Given the description of an element on the screen output the (x, y) to click on. 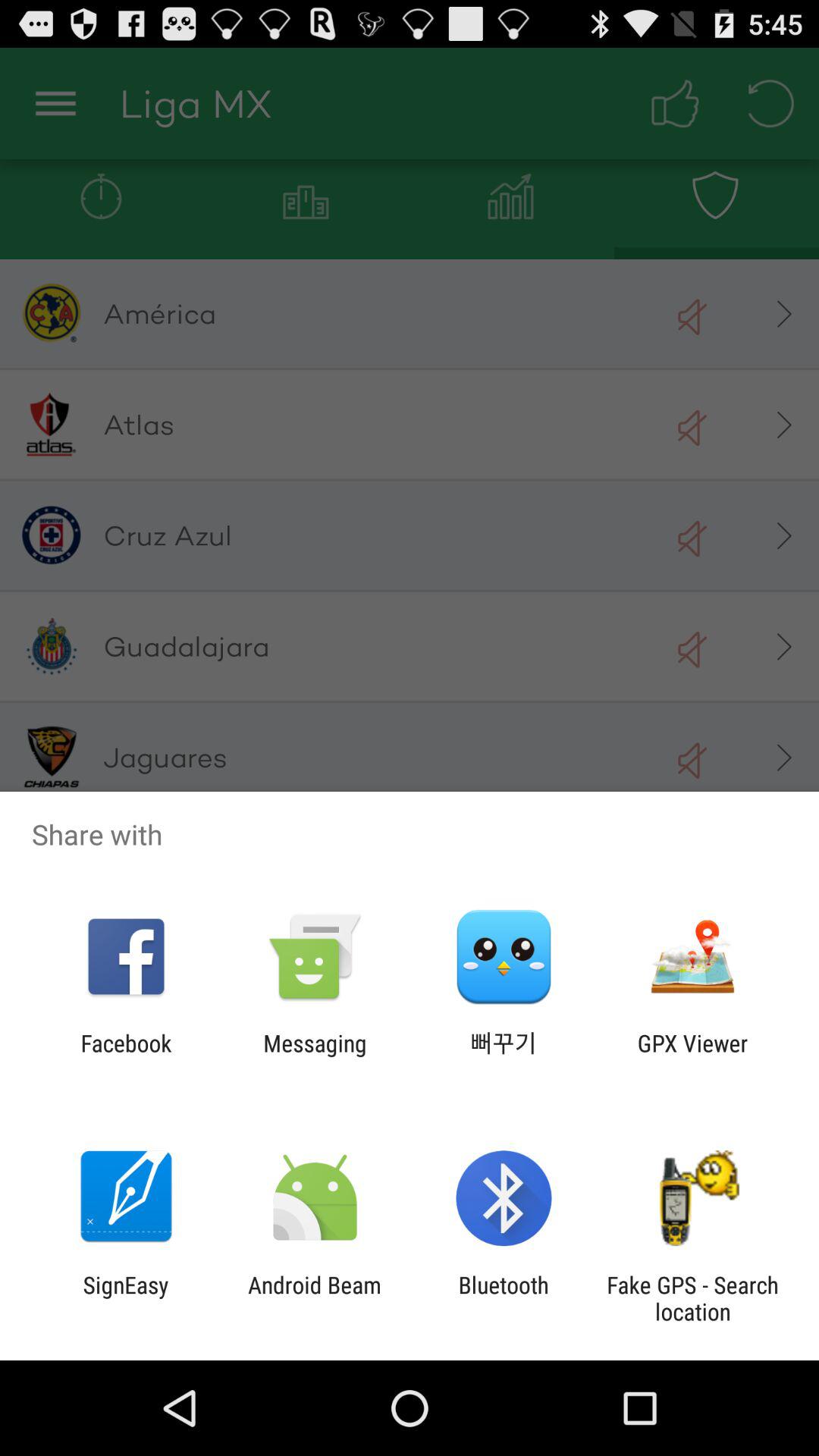
launch icon to the left of messaging icon (125, 1056)
